Given the description of an element on the screen output the (x, y) to click on. 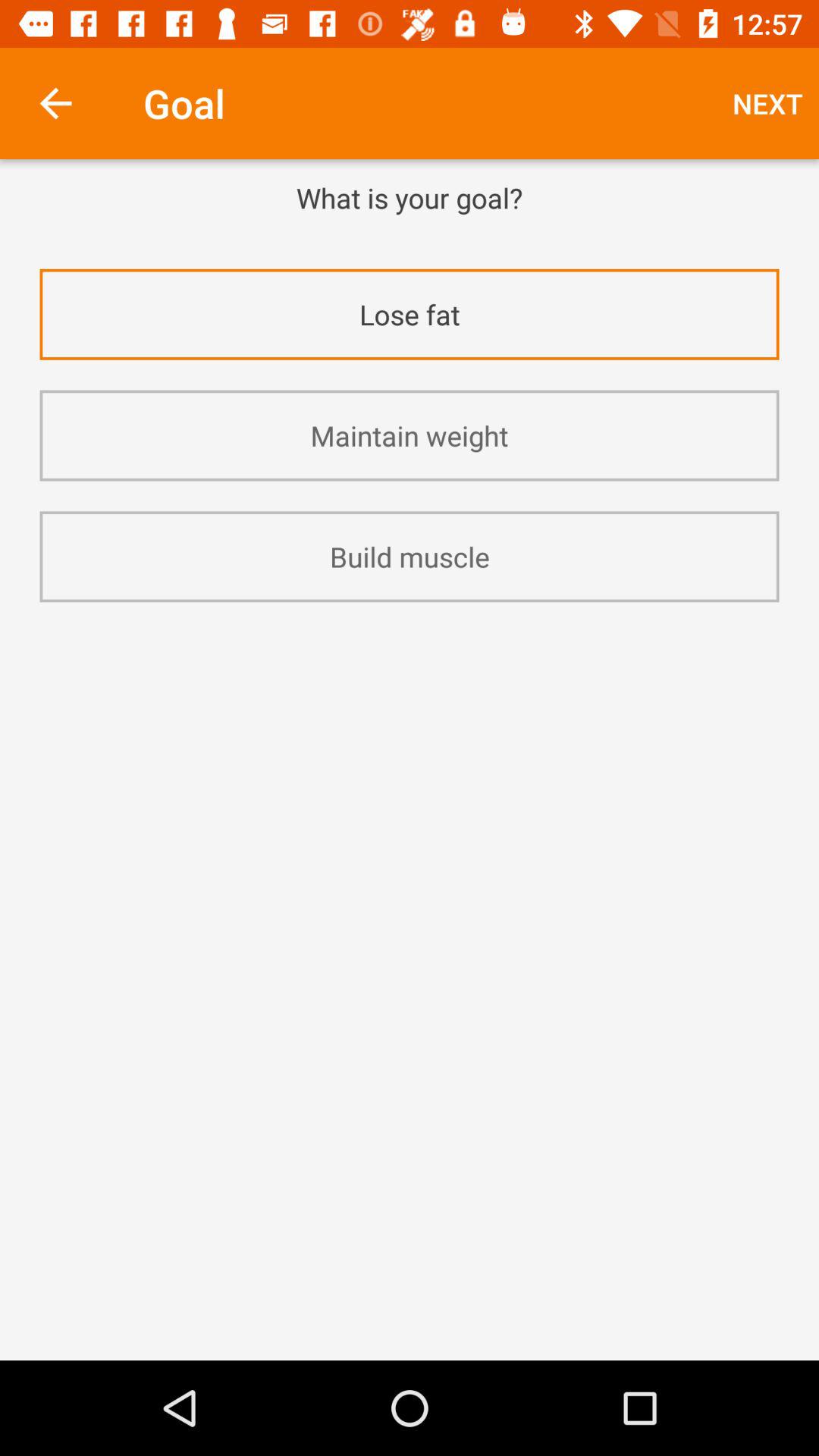
flip to lose fat item (409, 314)
